Given the description of an element on the screen output the (x, y) to click on. 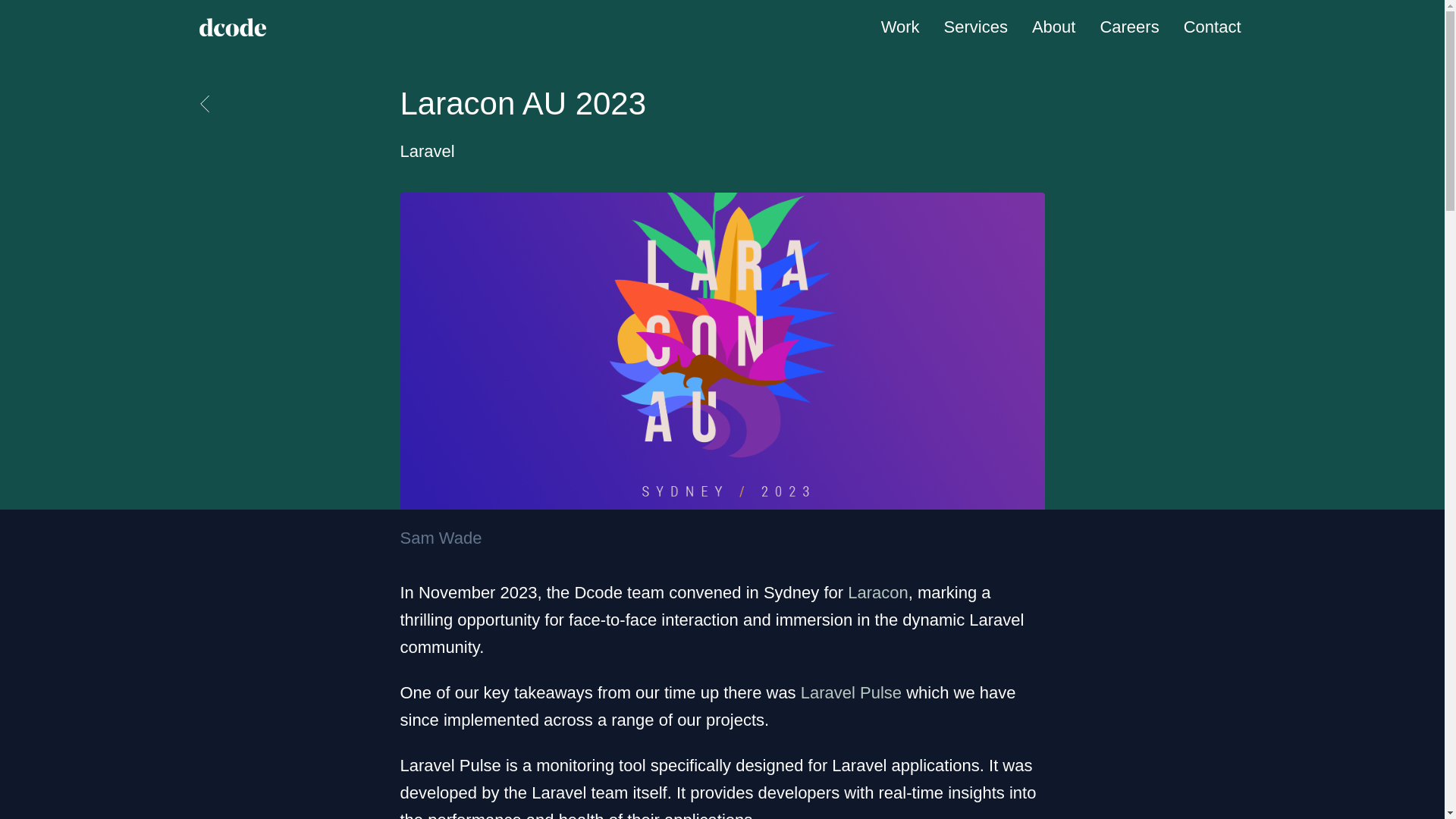
Laravel Pulse (850, 692)
Laracon (877, 592)
Laravel Pulse (850, 692)
Laracon (877, 592)
Services (975, 26)
Contact (1212, 26)
Careers (1128, 26)
About (1053, 26)
Work (900, 26)
